Given the description of an element on the screen output the (x, y) to click on. 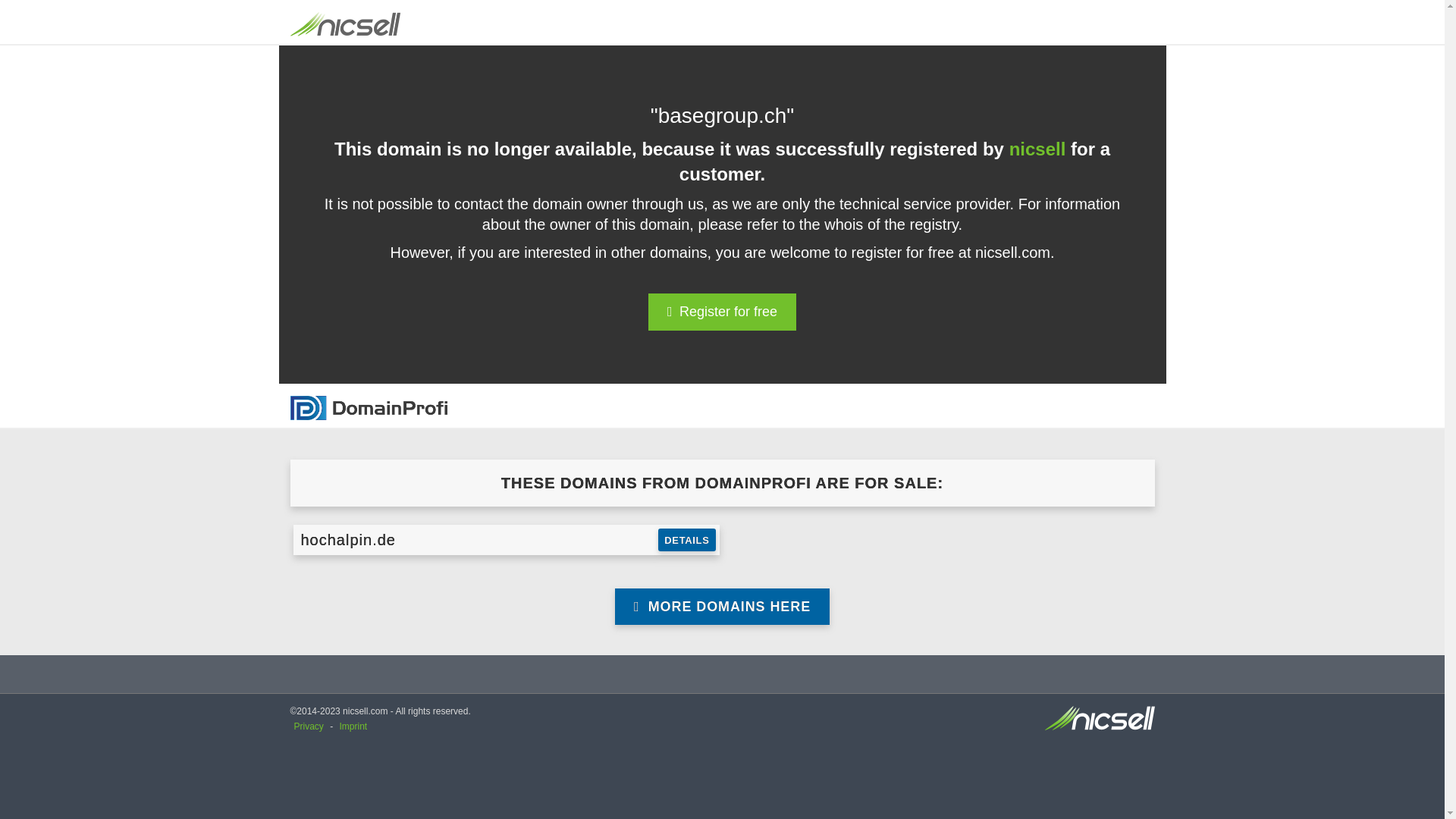
DETAILS Element type: text (686, 539)
  MORE DOMAINS HERE Element type: text (722, 606)
nicsell Element type: text (1037, 148)
Imprint Element type: text (353, 726)
Privacy Element type: text (308, 726)
  Register for free Element type: text (722, 311)
